Given the description of an element on the screen output the (x, y) to click on. 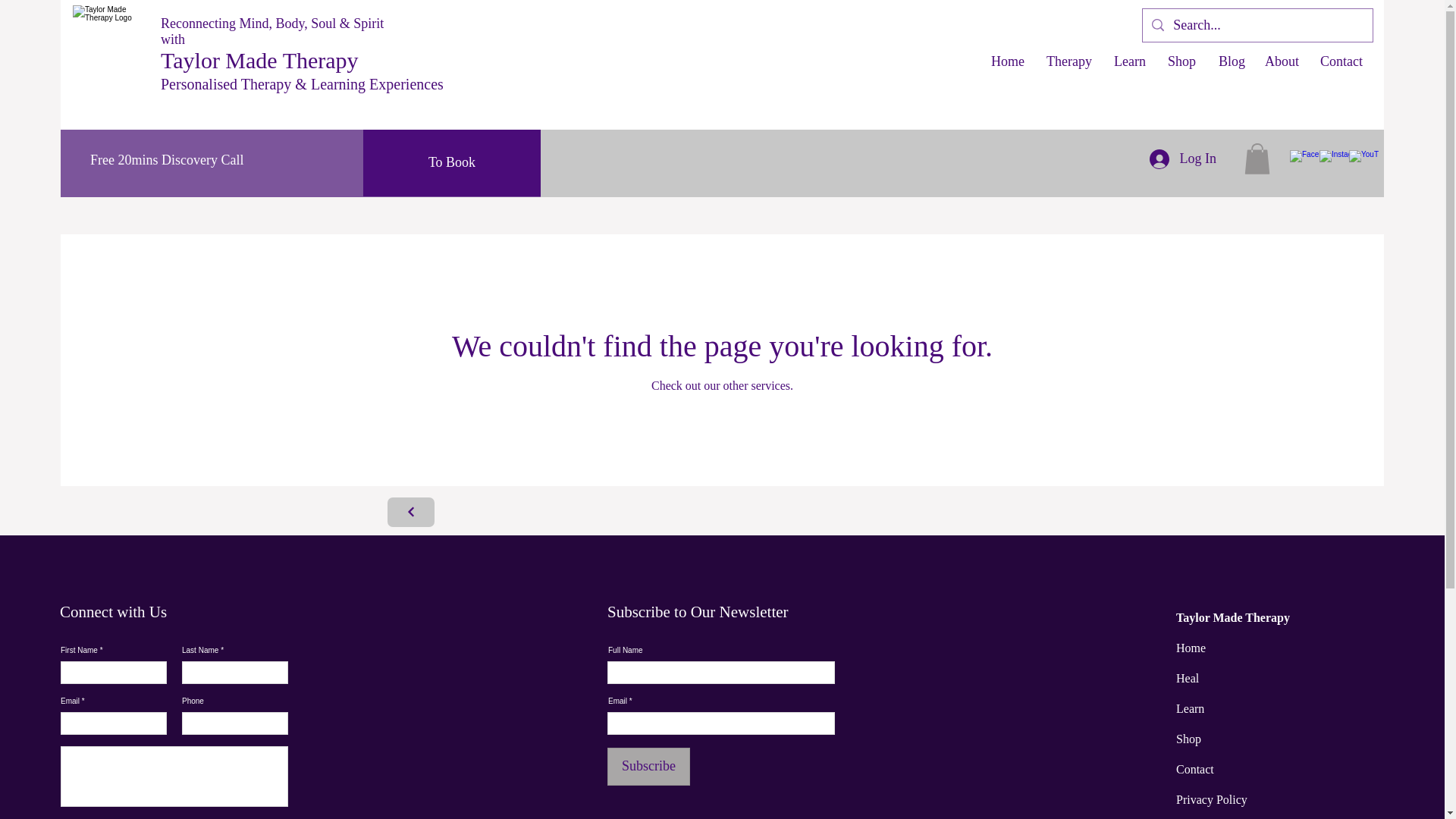
Taylor Made Therapy  (262, 59)
Heal (1187, 677)
About (1280, 61)
Home (1007, 61)
Privacy Policy (1211, 799)
Learn (1129, 61)
Subscribe (648, 766)
Shop (1181, 61)
To Book (451, 162)
Log In (1182, 158)
